Given the description of an element on the screen output the (x, y) to click on. 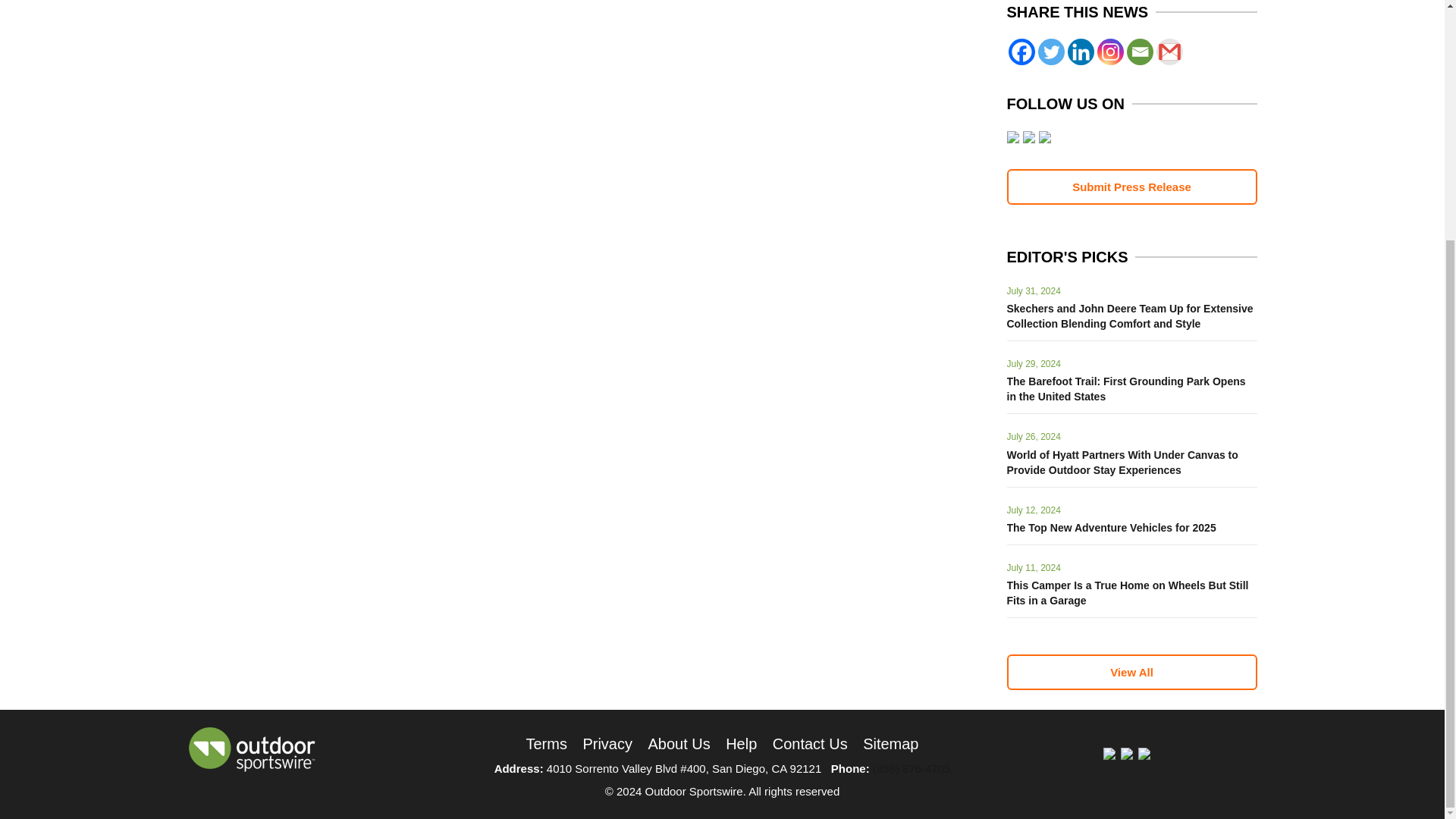
Twitter (1050, 51)
Instagram (1109, 51)
Facebook (1022, 51)
Email (1139, 51)
Google Gmail (1169, 51)
Linkedin (1080, 51)
